Given the description of an element on the screen output the (x, y) to click on. 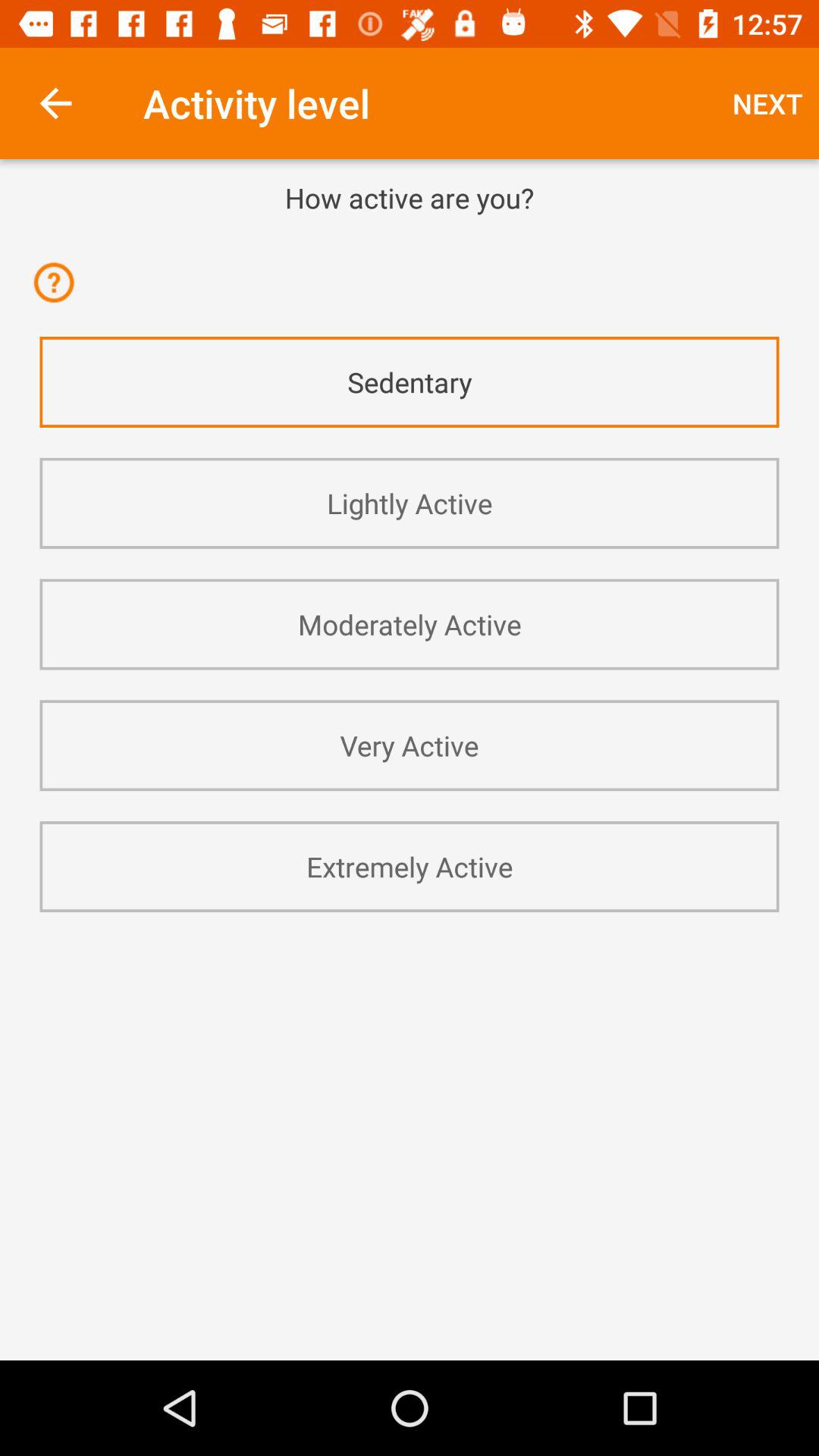
turn on the item above how active are (767, 103)
